Given the description of an element on the screen output the (x, y) to click on. 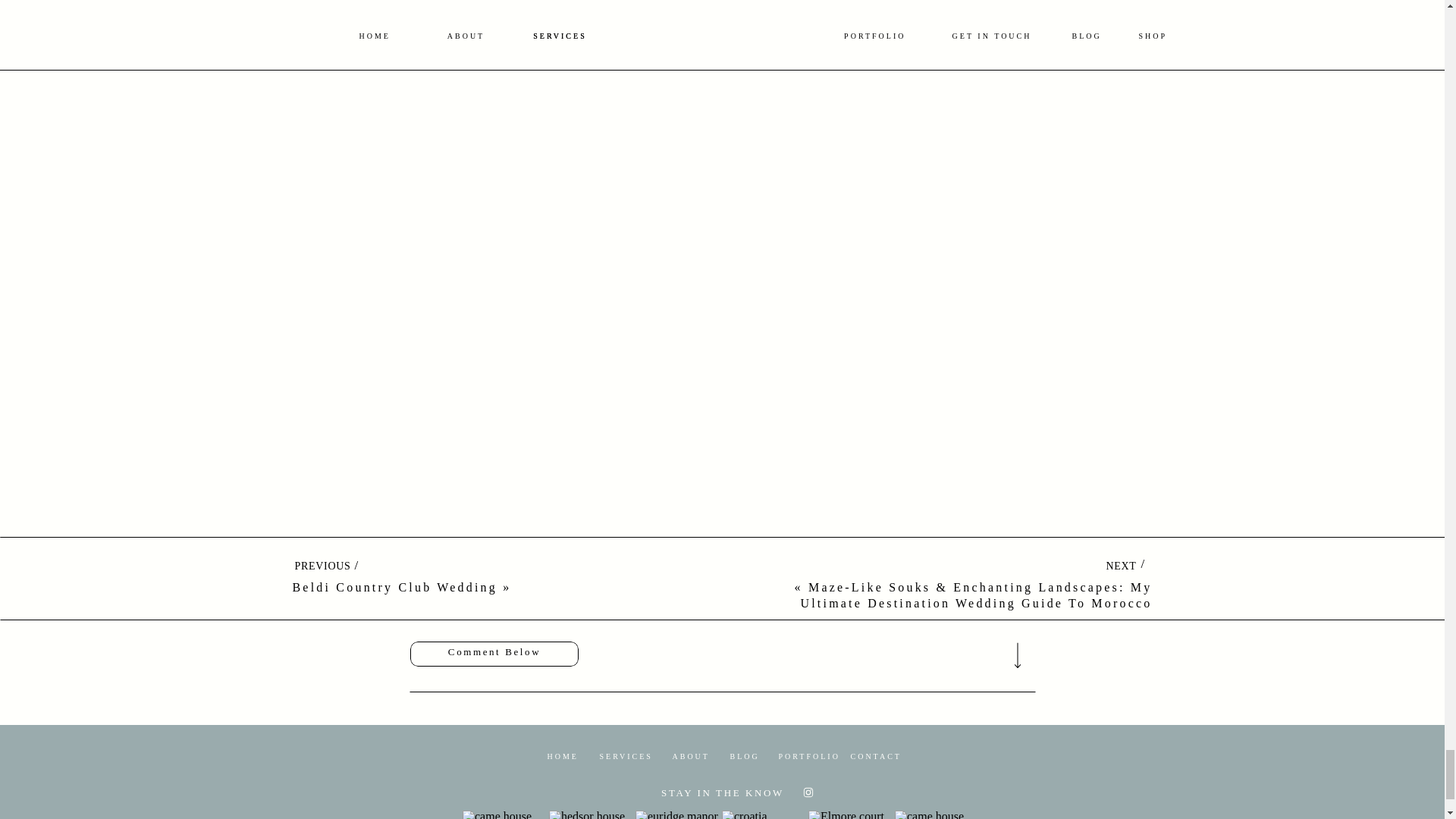
HOME (561, 754)
SERVICES (623, 755)
came house wedding-55 (935, 814)
croatia wedding-55 (763, 814)
ABOUT (688, 755)
BLOG (743, 755)
PORTFOLIO (800, 755)
came house wedding-42 (503, 814)
hedsor house wedding-49 (589, 814)
Beldi Country Club Wedding (394, 586)
